Given the description of an element on the screen output the (x, y) to click on. 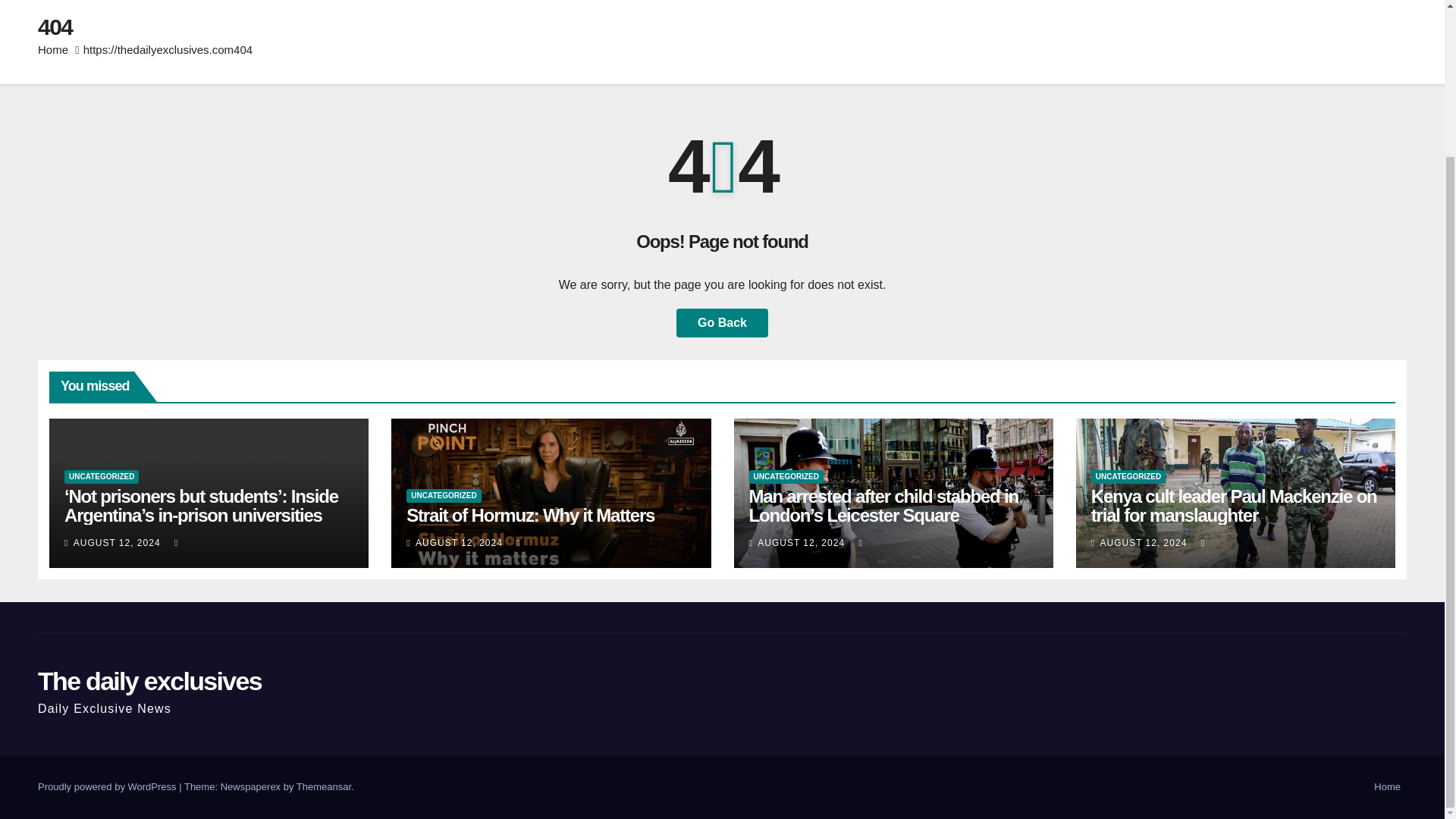
UNCATEGORIZED (101, 477)
AUGUST 12, 2024 (459, 542)
AUGUST 12, 2024 (1144, 542)
Strait of Hormuz: Why it Matters (529, 515)
AUGUST 12, 2024 (118, 542)
UNCATEGORIZED (786, 477)
AUGUST 12, 2024 (802, 542)
Go Back (722, 322)
Kenya cult leader Paul Mackenzie on trial for manslaughter (1233, 505)
Home (52, 49)
